Given the description of an element on the screen output the (x, y) to click on. 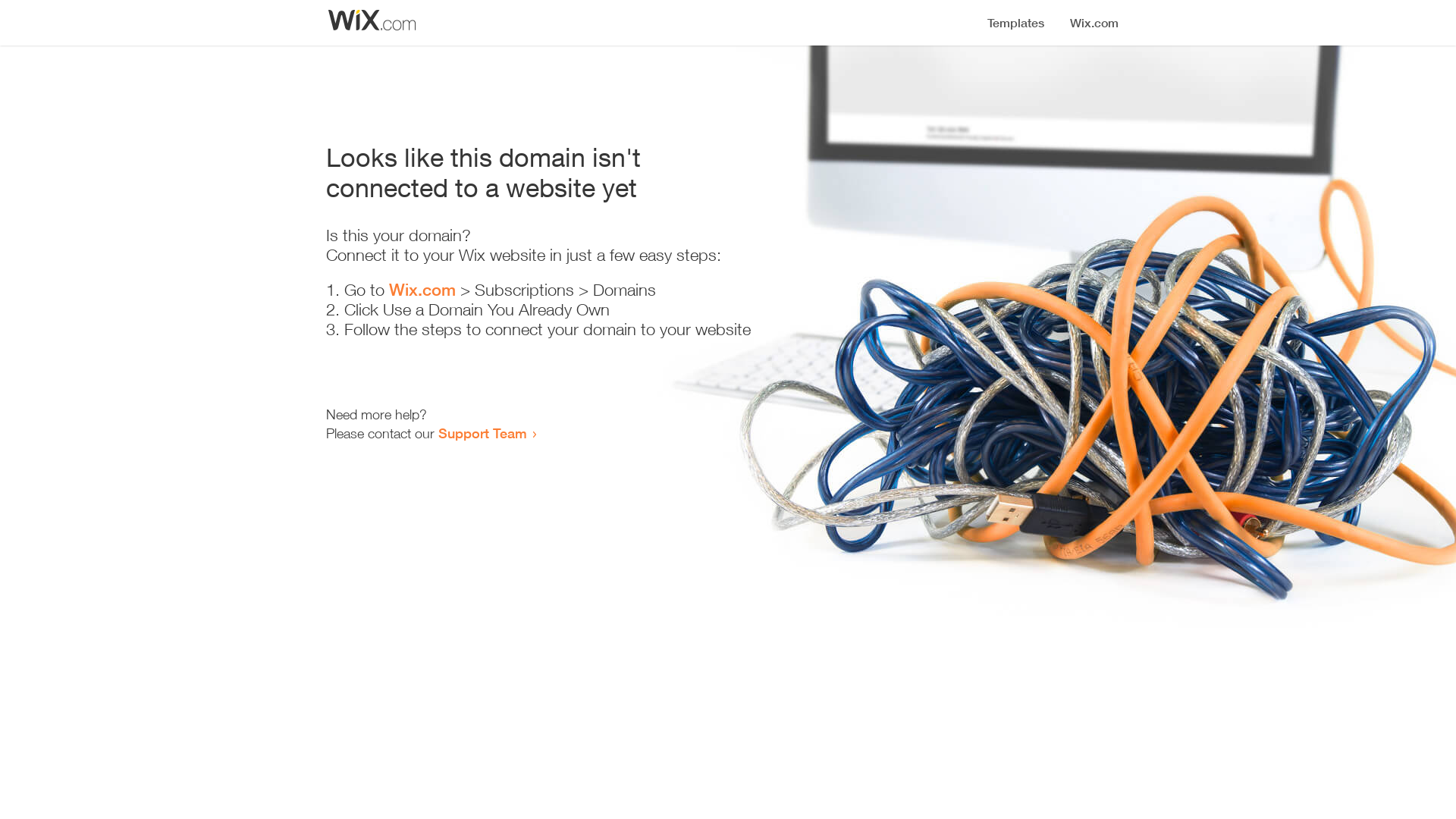
Support Team Element type: text (482, 432)
Wix.com Element type: text (422, 289)
